Given the description of an element on the screen output the (x, y) to click on. 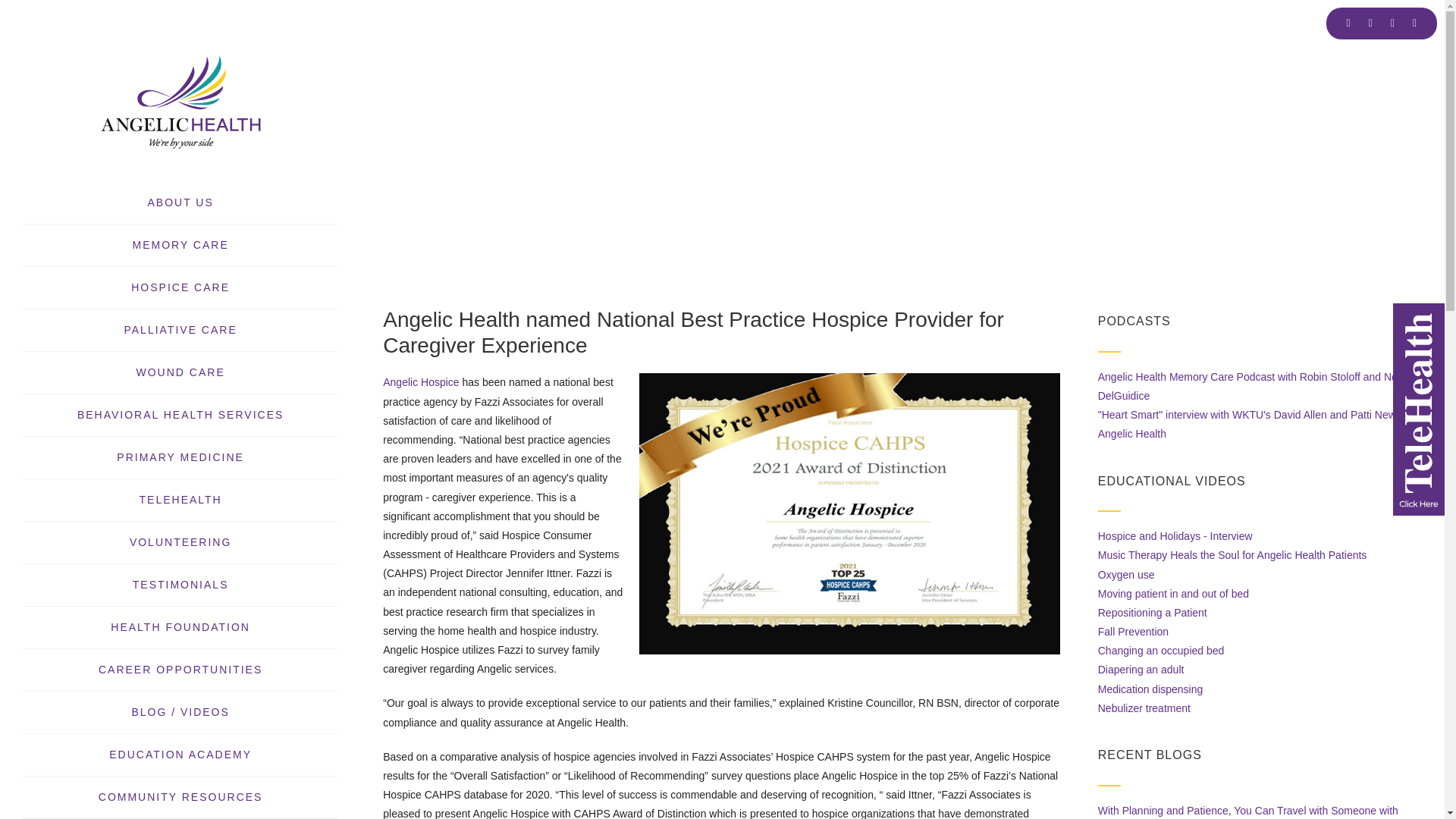
VOLUNTEERING (180, 542)
ABOUT US (180, 202)
CAREER OPPORTUNITIES (180, 669)
EDUCATION ACADEMY (180, 755)
PALLIATIVE CARE (180, 329)
COMMUNITY RESOURCES (180, 796)
TELEHEALTH (180, 499)
MEMORY CARE (180, 244)
HOSPICE CARE (180, 287)
TESTIMONIALS (180, 584)
WOUND CARE (180, 372)
BEHAVIORAL HEALTH SERVICES (180, 415)
HEALTH FOUNDATION (180, 627)
PRIMARY MEDICINE (180, 457)
